Given the description of an element on the screen output the (x, y) to click on. 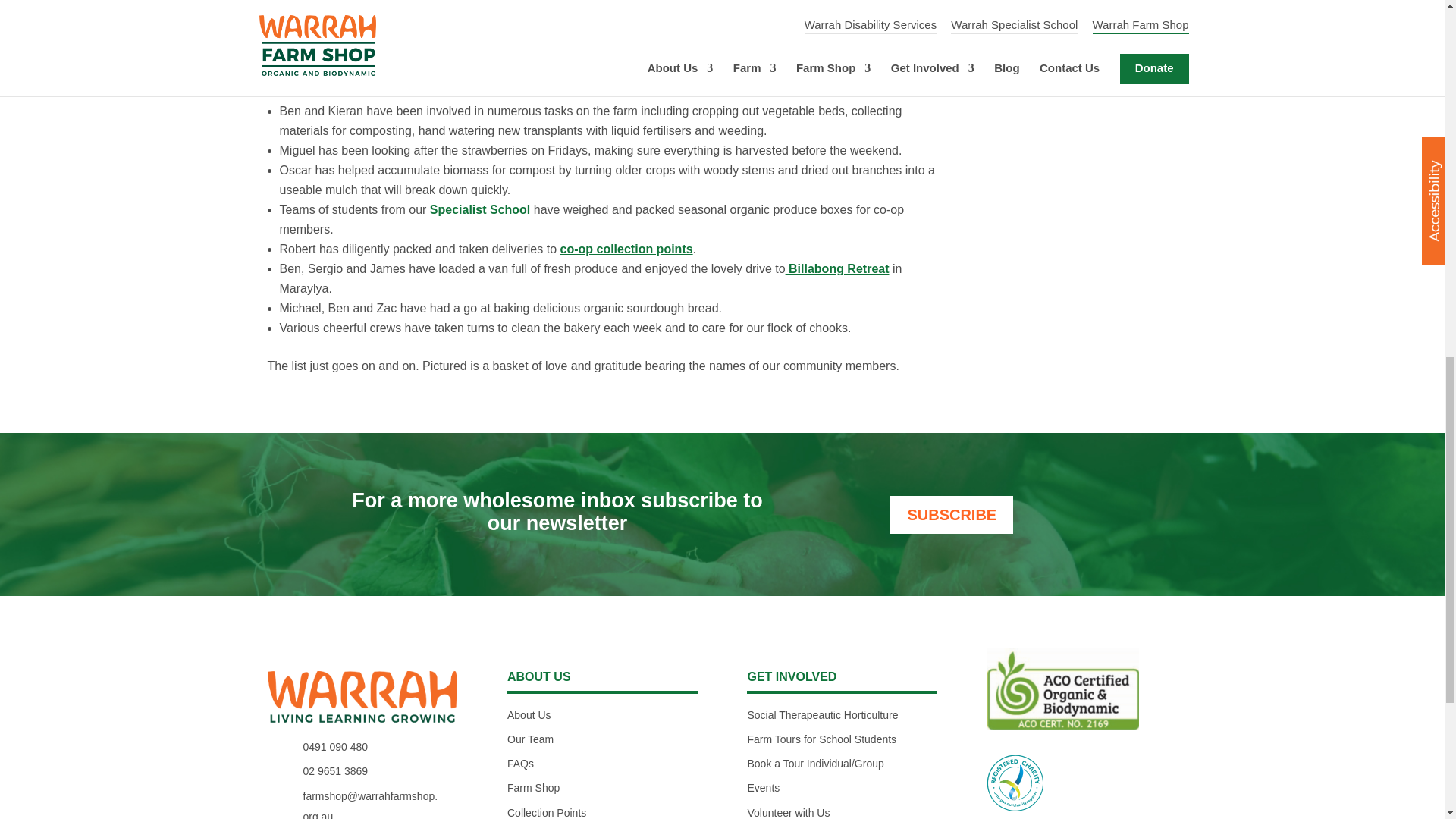
registered-charity (1015, 783)
